Given the description of an element on the screen output the (x, y) to click on. 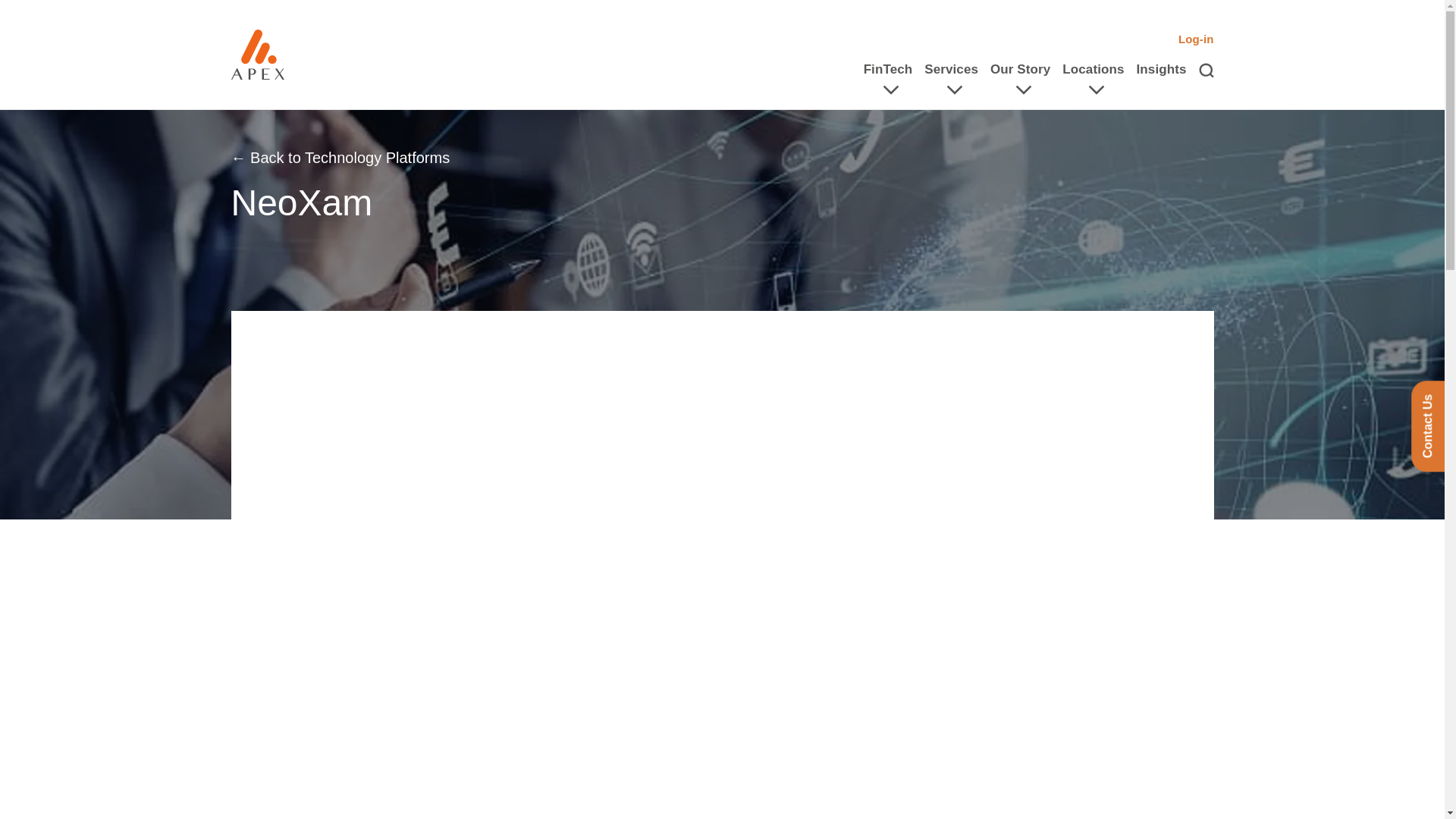
FinTech (887, 69)
Services (951, 69)
